Given the description of an element on the screen output the (x, y) to click on. 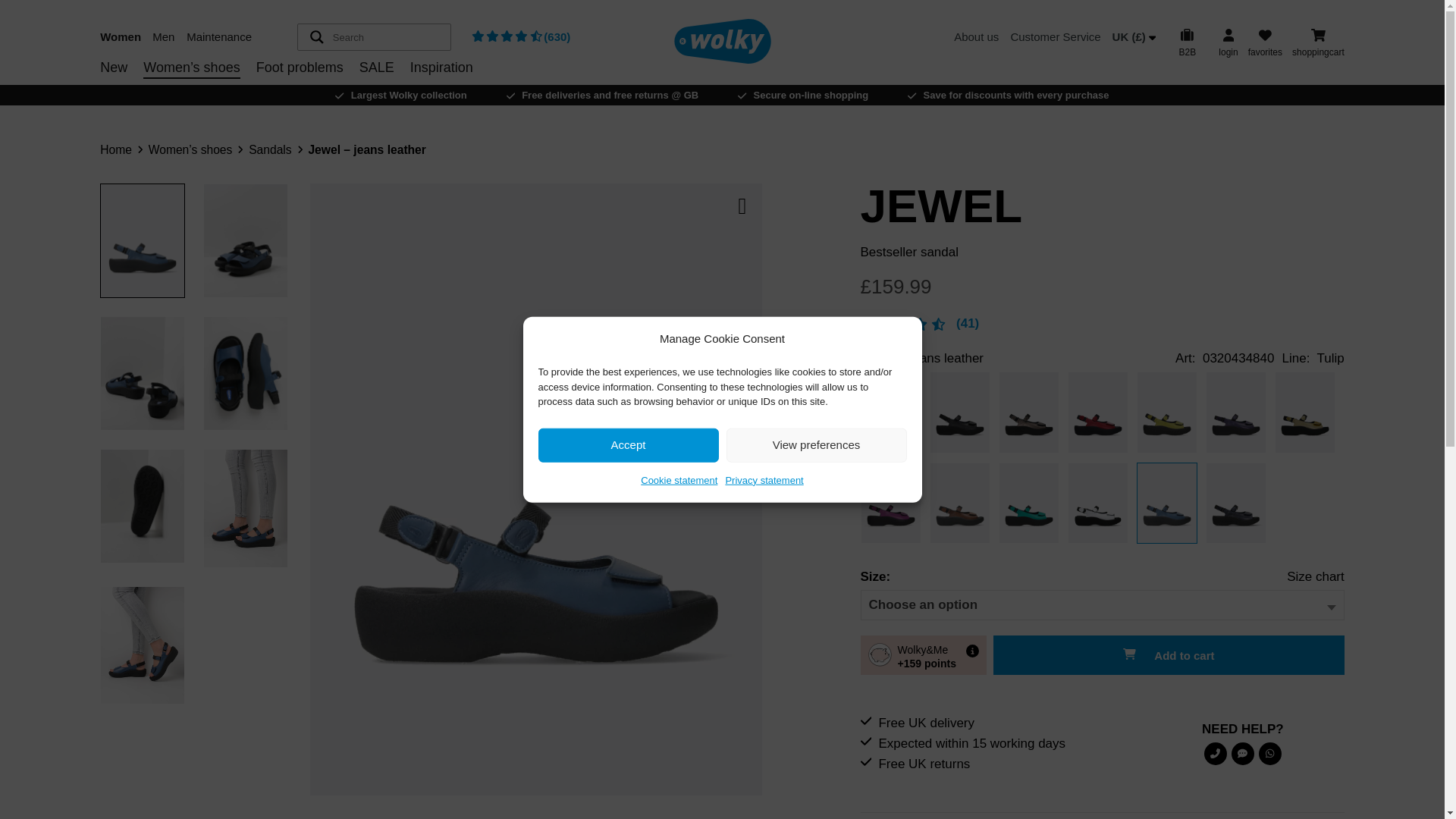
Privacy statement (764, 479)
All shoes (304, 91)
CATEGORIES (304, 93)
Choose an option (923, 604)
Lost your password? (966, 69)
B2B (1187, 41)
View preferences (816, 444)
About us (975, 36)
Accept (628, 444)
Customer Service (1055, 36)
Cookie statement (678, 479)
Login (1052, 84)
Sign up (1053, 81)
Maintenance (221, 36)
shoppingcart (1317, 41)
